Given the description of an element on the screen output the (x, y) to click on. 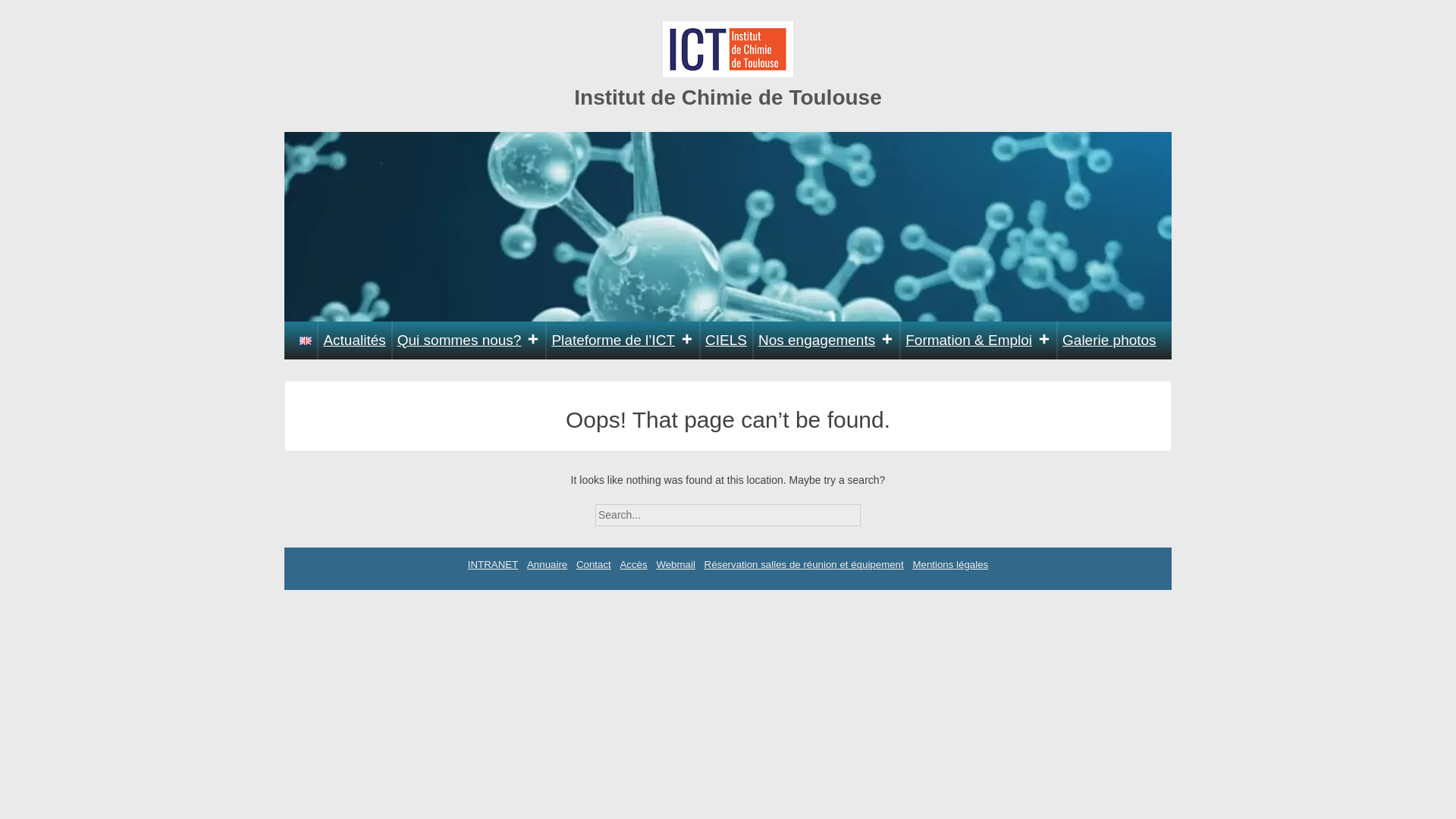
Search (873, 509)
CIELS (726, 340)
Qui sommes nous? (468, 340)
Nos engagements (825, 340)
Search (873, 509)
Institut de Chimie de Toulouse (727, 97)
